Given the description of an element on the screen output the (x, y) to click on. 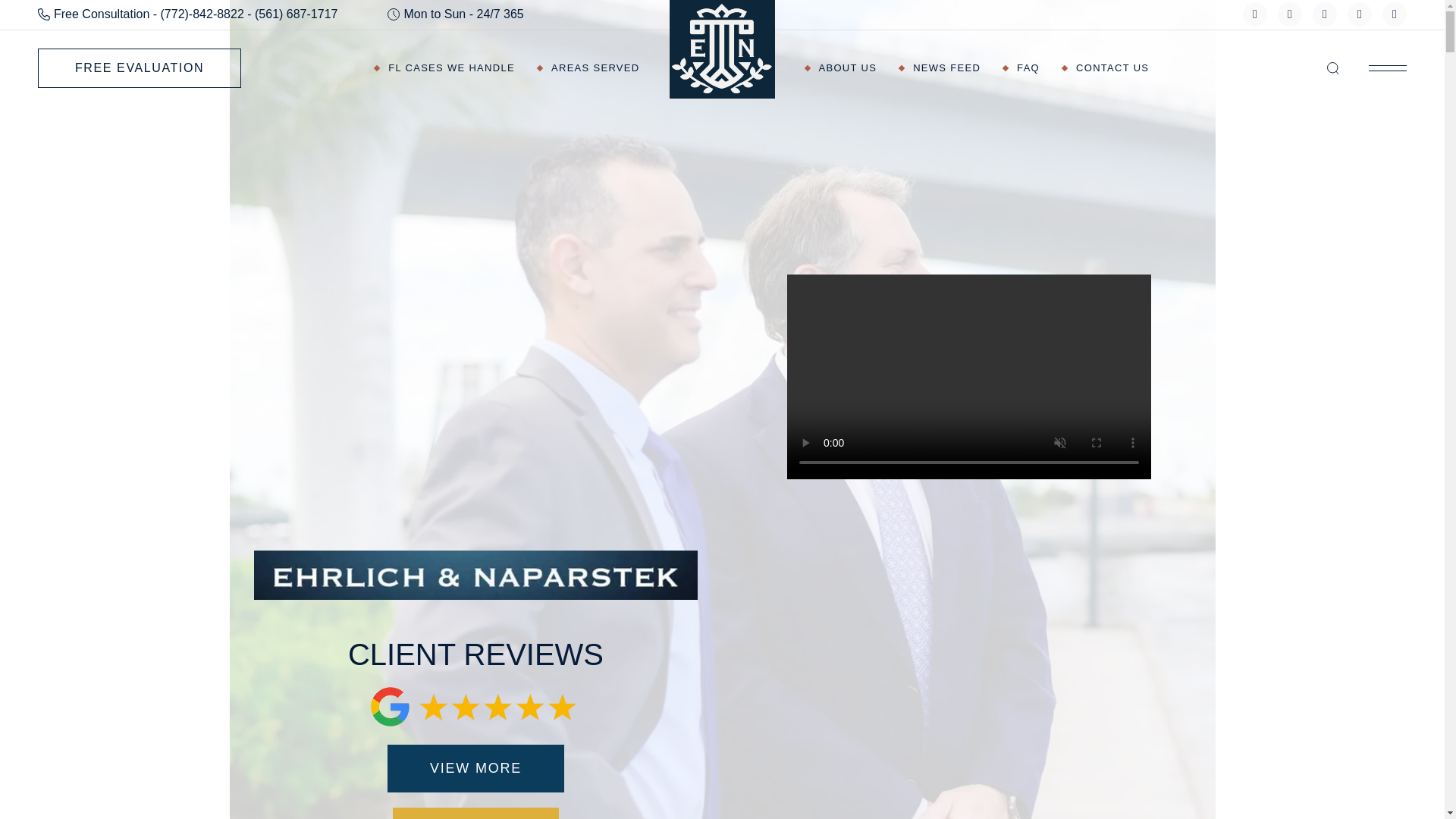
AREAS SERVED (588, 68)
FREE EVALUATION (139, 67)
FL CASES WE HANDLE (444, 68)
